Given the description of an element on the screen output the (x, y) to click on. 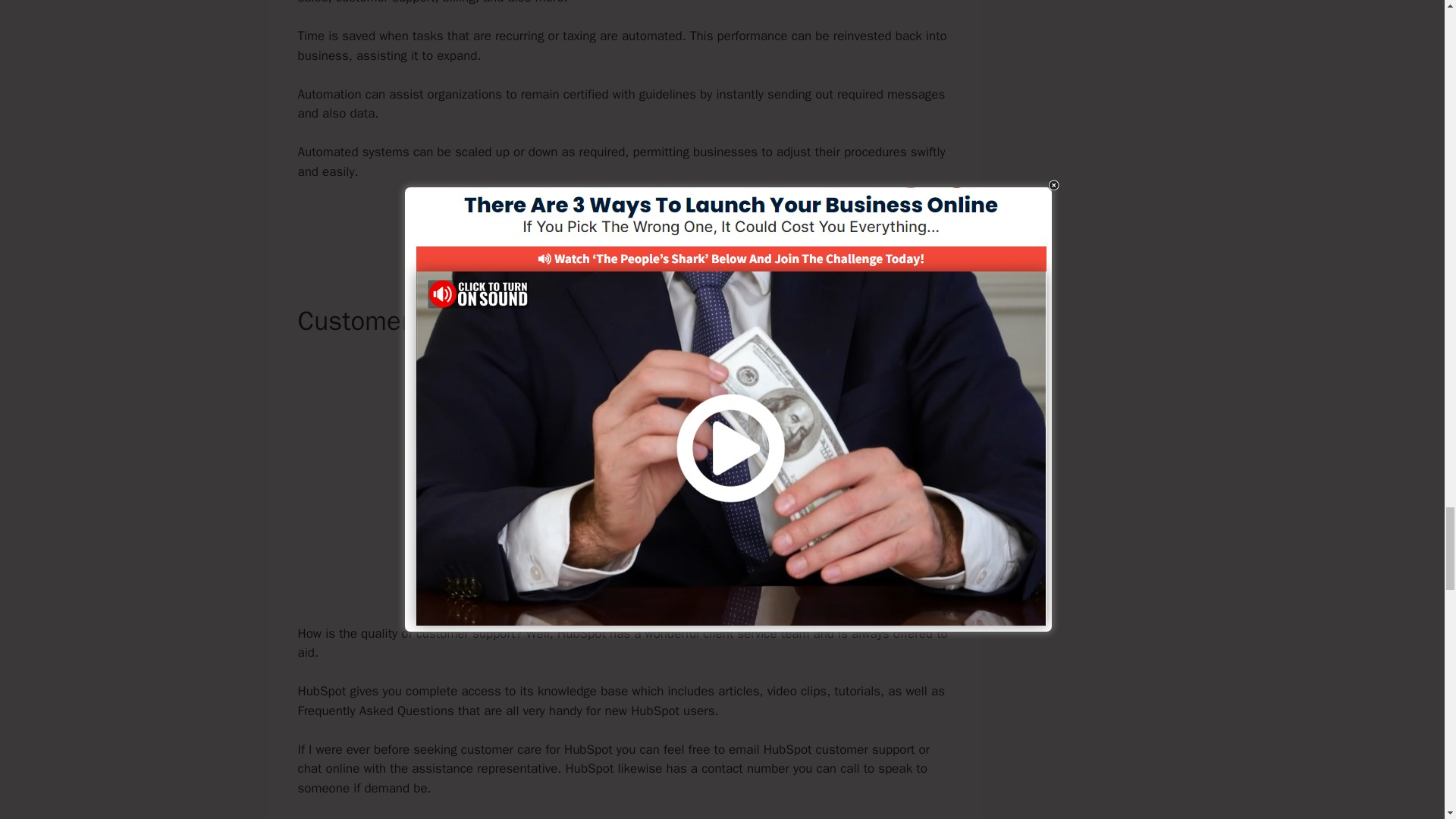
Discover If HubSpot Is For You (623, 223)
